Given the description of an element on the screen output the (x, y) to click on. 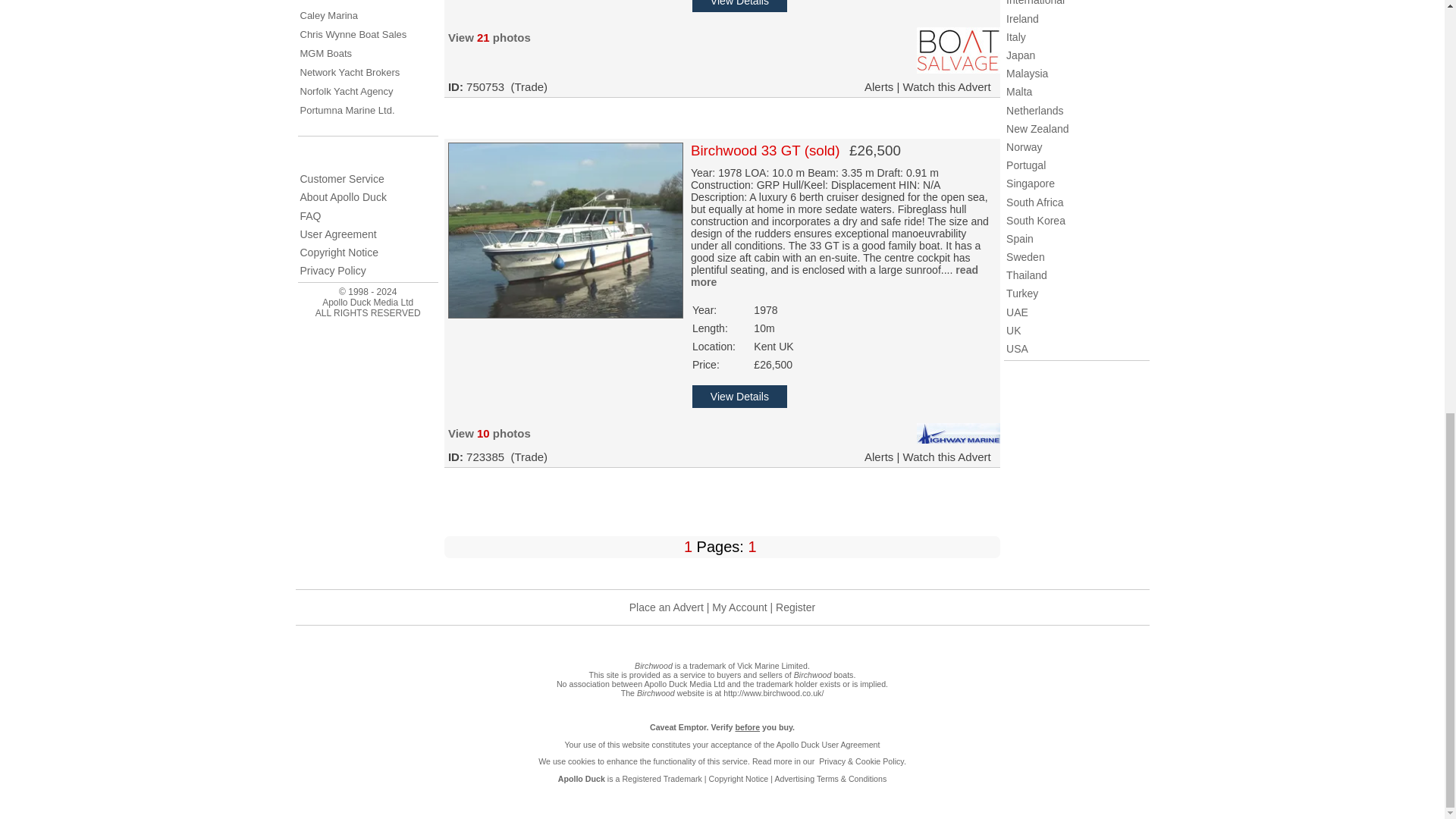
Network Yacht Brokers, UK (349, 71)
Norfolk Yacht Agency, UK (346, 91)
Portumna Marine Ltd., Ireland (346, 110)
Chris Wynne Boat Sales, Ireland (353, 34)
MGM Boats, Ireland (325, 52)
Burton Waters, UK (330, 1)
Caley Marina, UK (328, 15)
